Given the description of an element on the screen output the (x, y) to click on. 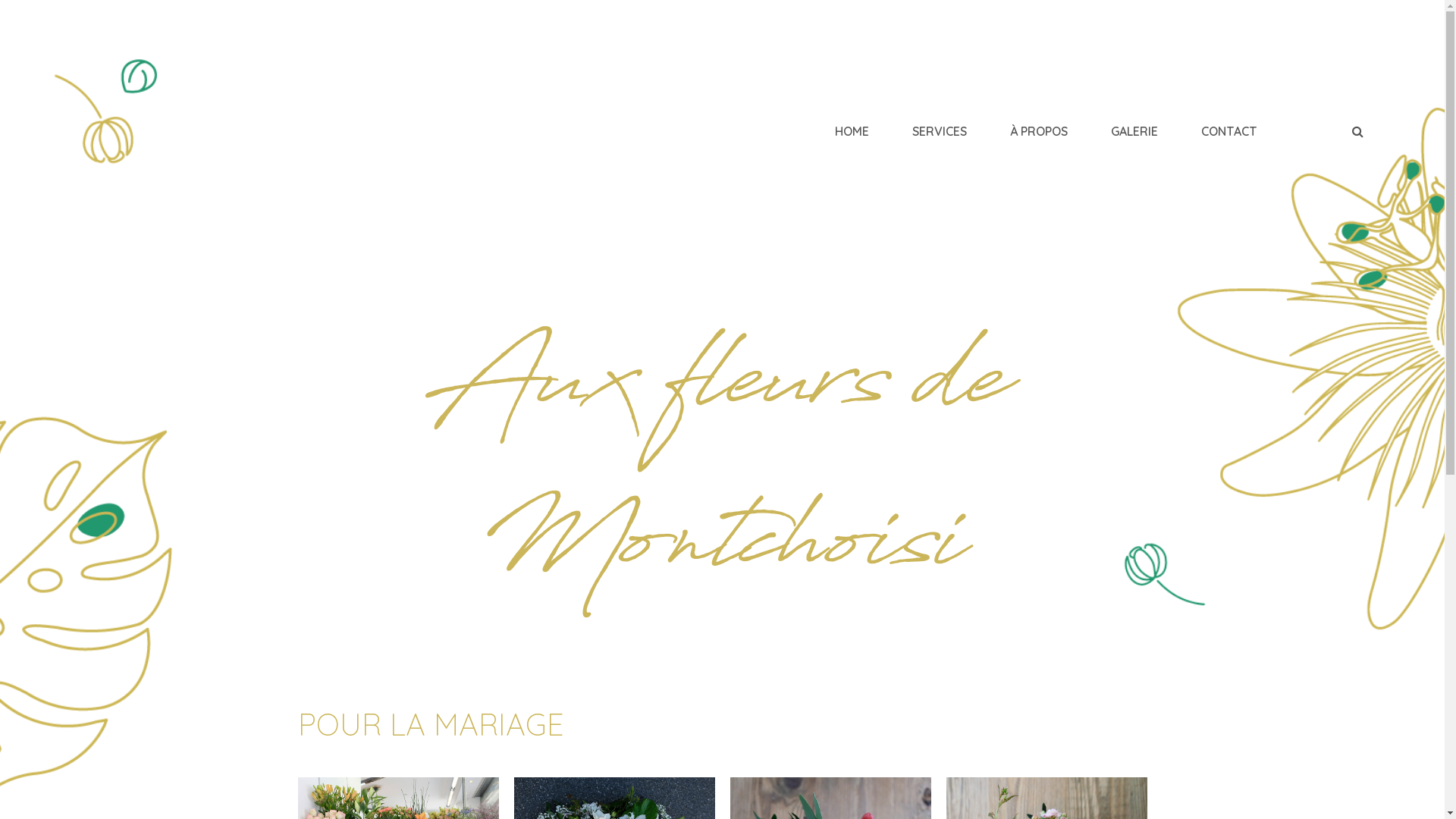
SERVICES Element type: text (939, 131)
HOME Element type: text (851, 131)
CONTACT Element type: text (1229, 131)
GALERIE Element type: text (1133, 131)
